Given the description of an element on the screen output the (x, y) to click on. 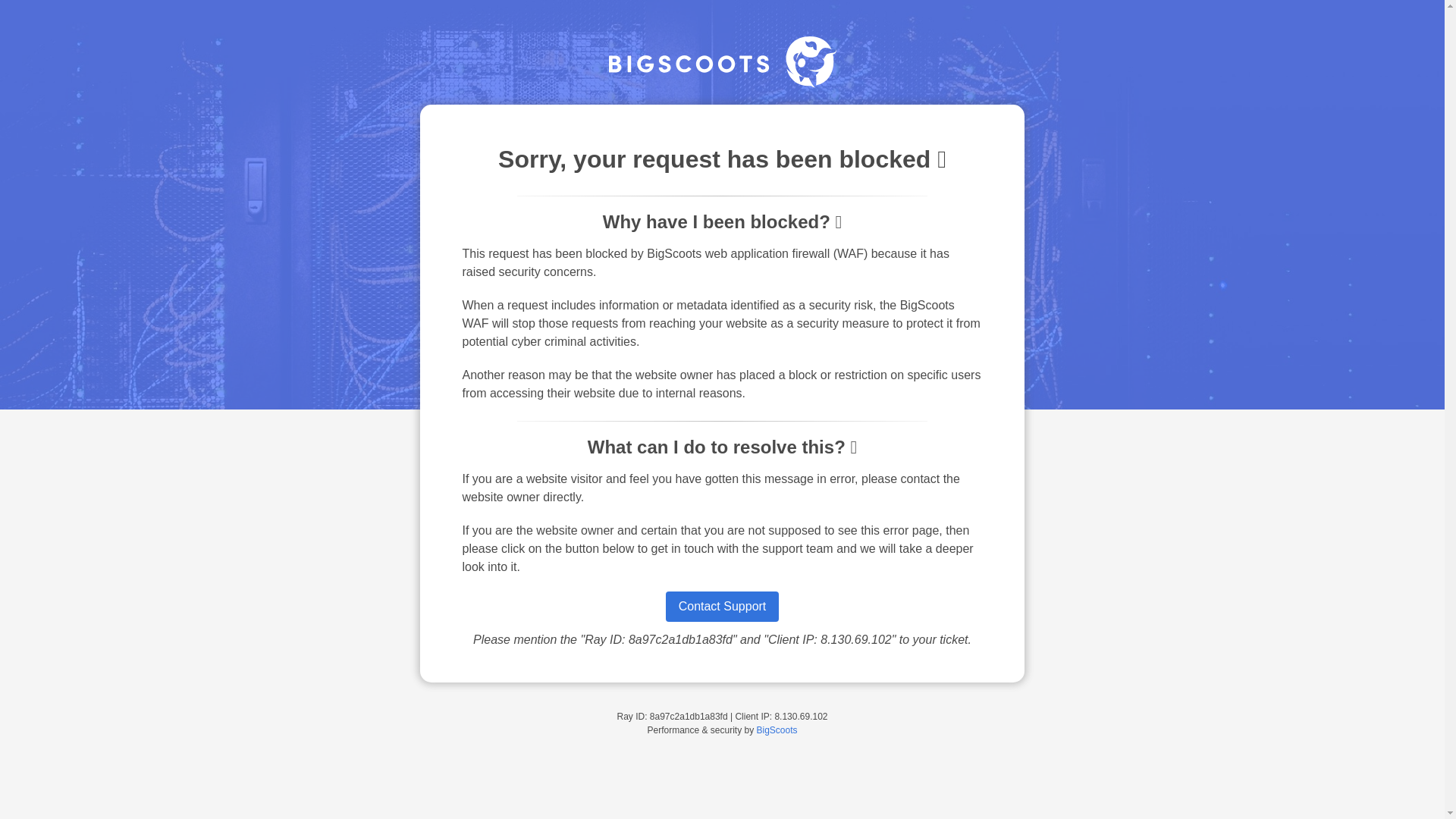
Contact Support (721, 606)
BigScoots (777, 729)
